Given the description of an element on the screen output the (x, y) to click on. 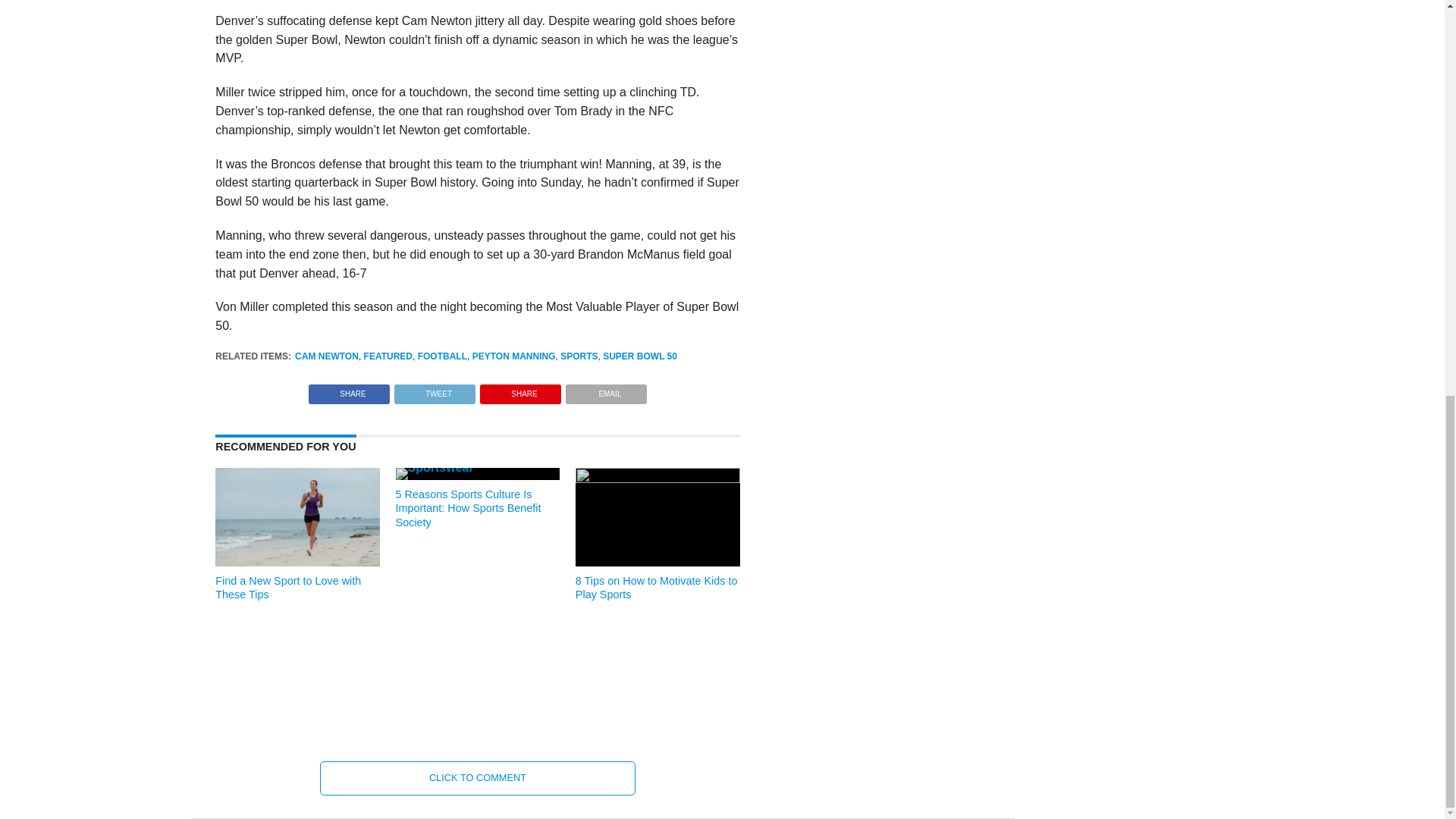
Pin This Post (520, 390)
Tweet This Post (434, 390)
Share on Facebook (349, 390)
Find a New Sport to Love with These Tips (297, 562)
8 Tips on How to Motivate Kids to Play Sports (657, 478)
